Given the description of an element on the screen output the (x, y) to click on. 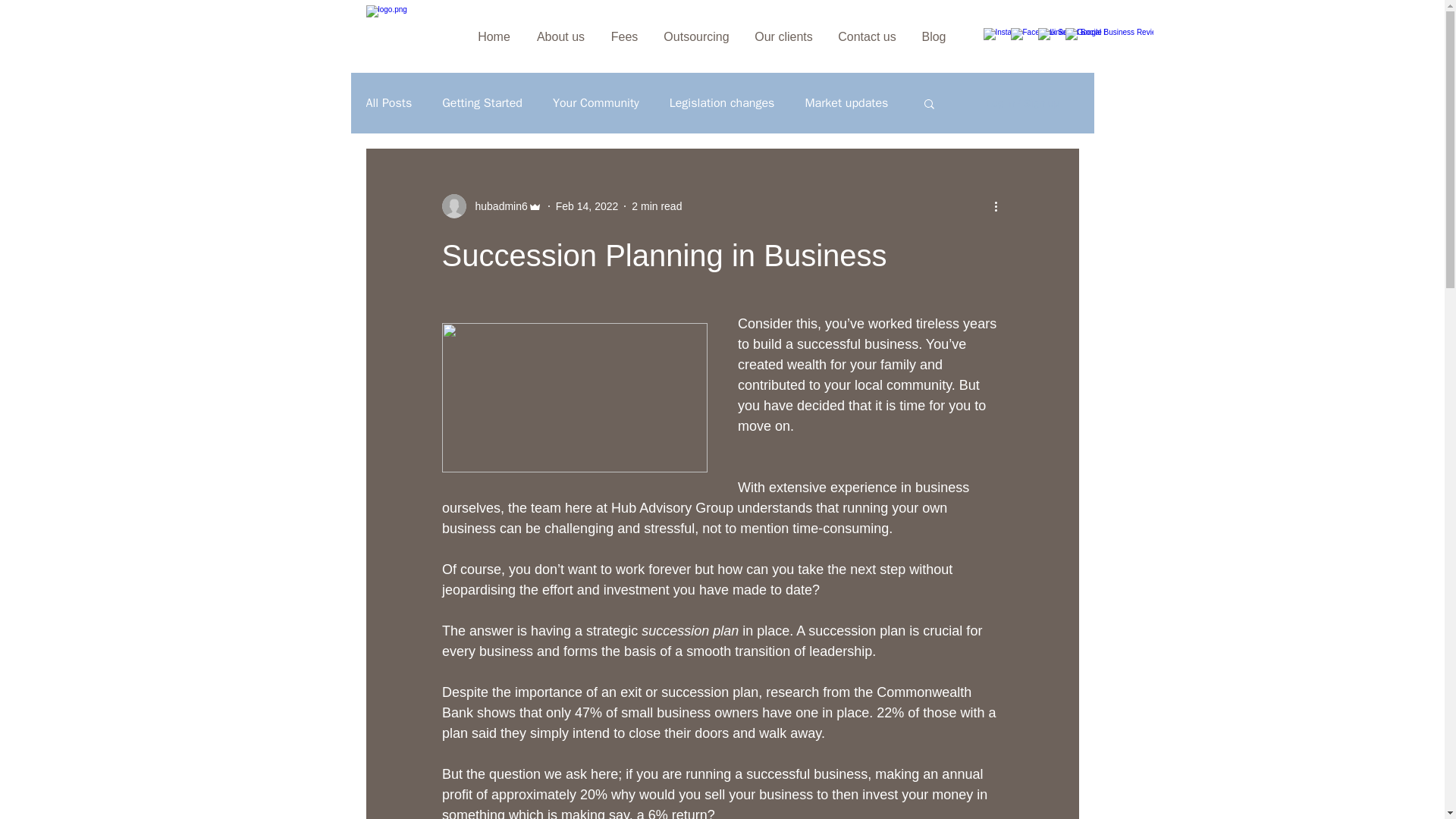
Legislation changes (721, 103)
About us (559, 37)
Your Community (596, 103)
2 min read (656, 205)
Market updates (846, 103)
All Posts (388, 103)
Home (493, 37)
Feb 14, 2022 (587, 205)
Getting Started (482, 103)
Outsourcing (695, 37)
Our clients (783, 37)
hubadmin6 (496, 206)
Blog (933, 37)
Contact us (866, 37)
Fees (623, 37)
